Given the description of an element on the screen output the (x, y) to click on. 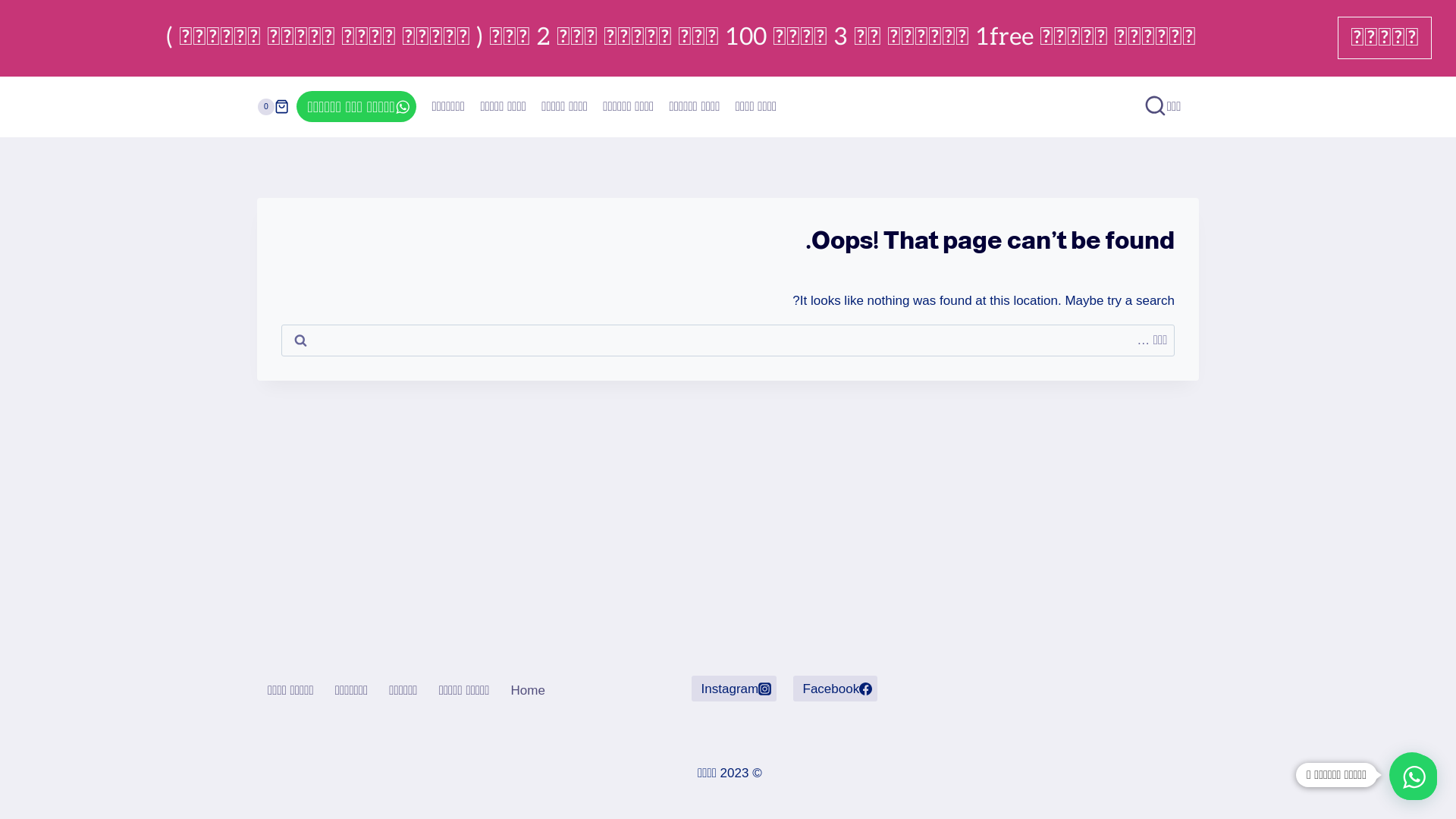
0 Element type: text (272, 106)
Facebook Element type: text (835, 688)
Instagram Element type: text (733, 688)
Home Element type: text (527, 689)
